Given the description of an element on the screen output the (x, y) to click on. 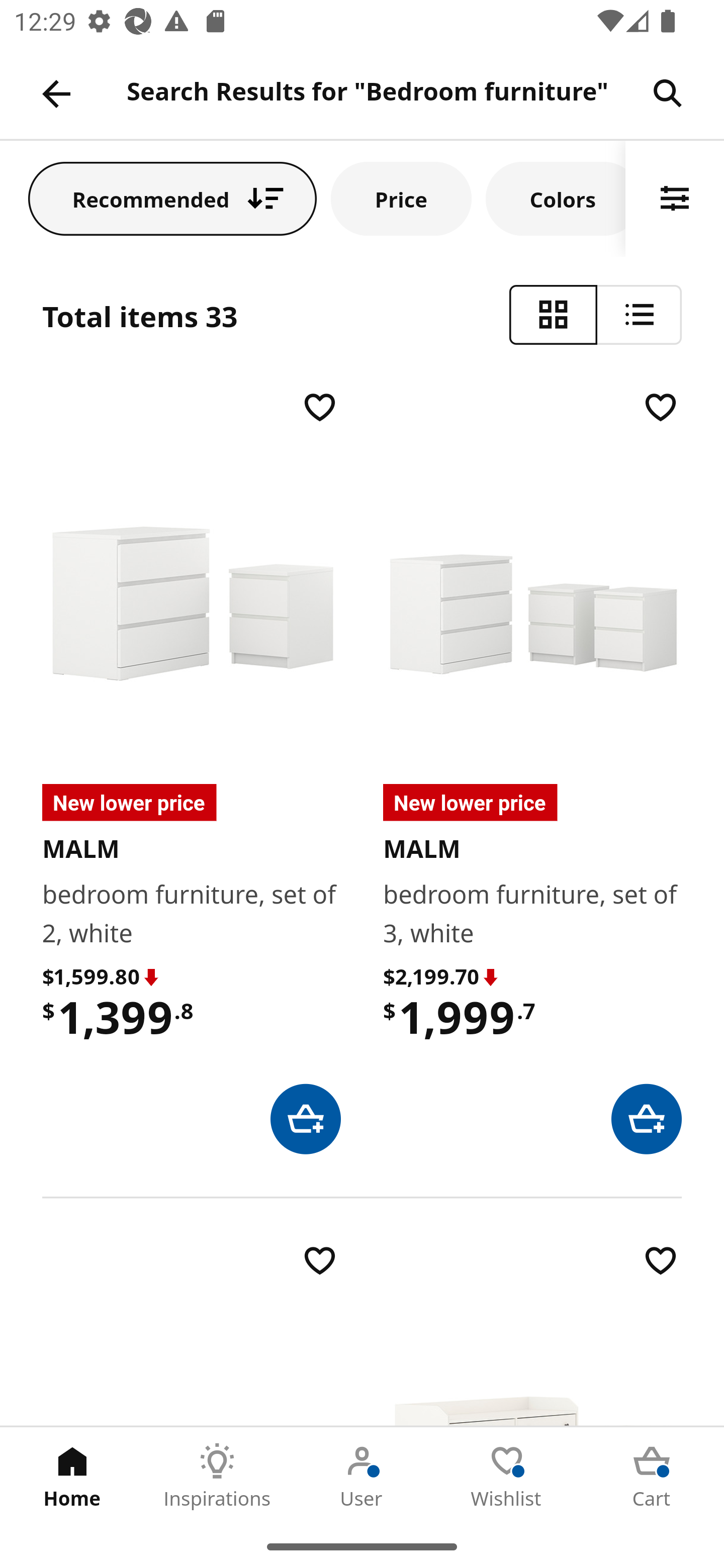
Recommended (172, 198)
Price (400, 198)
Colors (555, 198)
Home
Tab 1 of 5 (72, 1476)
Inspirations
Tab 2 of 5 (216, 1476)
User
Tab 3 of 5 (361, 1476)
Wishlist
Tab 4 of 5 (506, 1476)
Cart
Tab 5 of 5 (651, 1476)
